Given the description of an element on the screen output the (x, y) to click on. 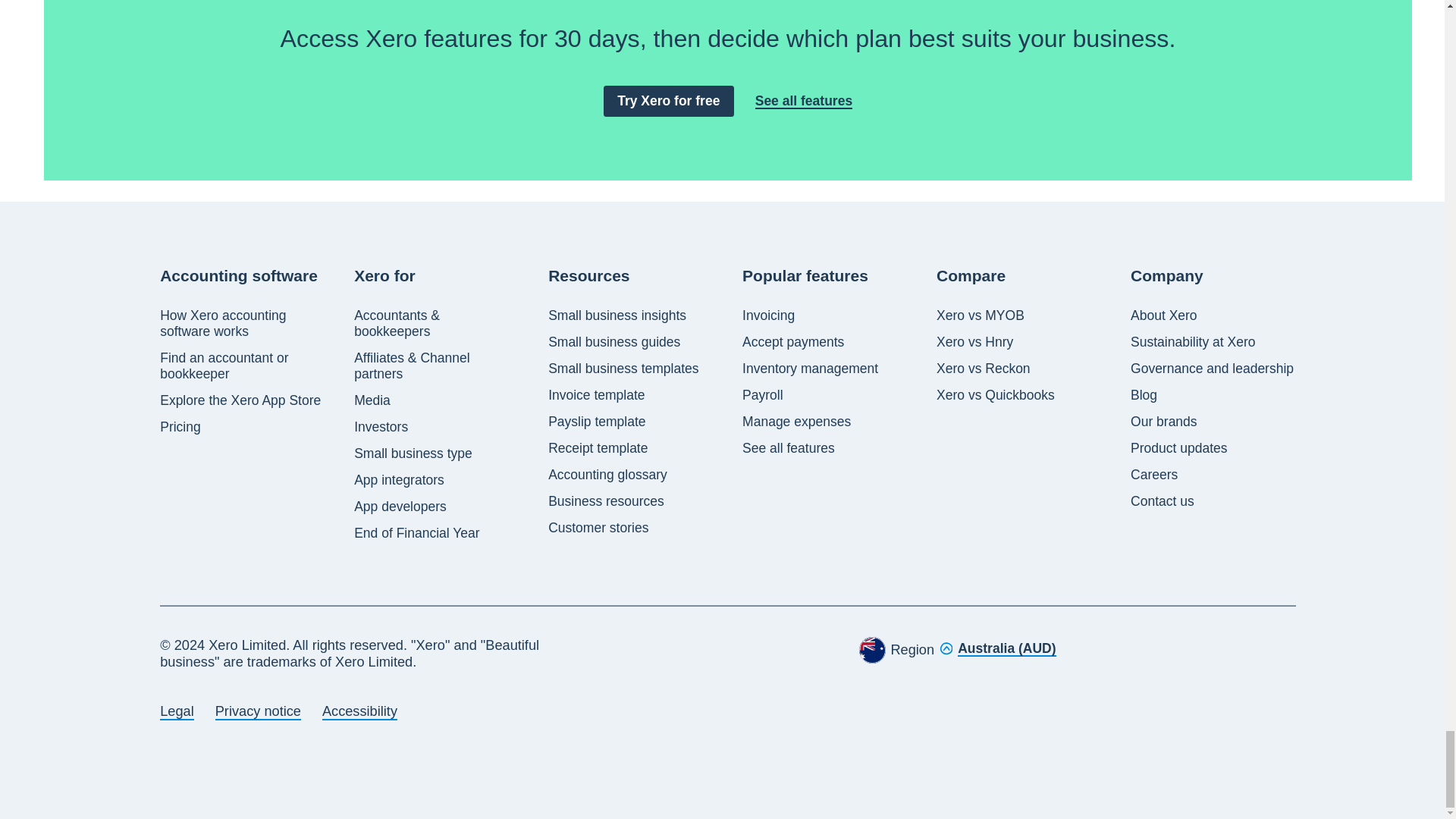
Find an accountant or bookkeeper (242, 366)
Small business insights (616, 315)
Invoice template (596, 395)
Pricing (180, 426)
Explore the Xero App Store (240, 400)
Small business templates (623, 368)
App developers (399, 506)
See all features (803, 100)
Investors (380, 426)
Media (371, 400)
Small business guides (613, 342)
App integrators (398, 480)
Try Xero for free (668, 101)
How Xero accounting software works (242, 323)
Small business type (412, 453)
